Given the description of an element on the screen output the (x, y) to click on. 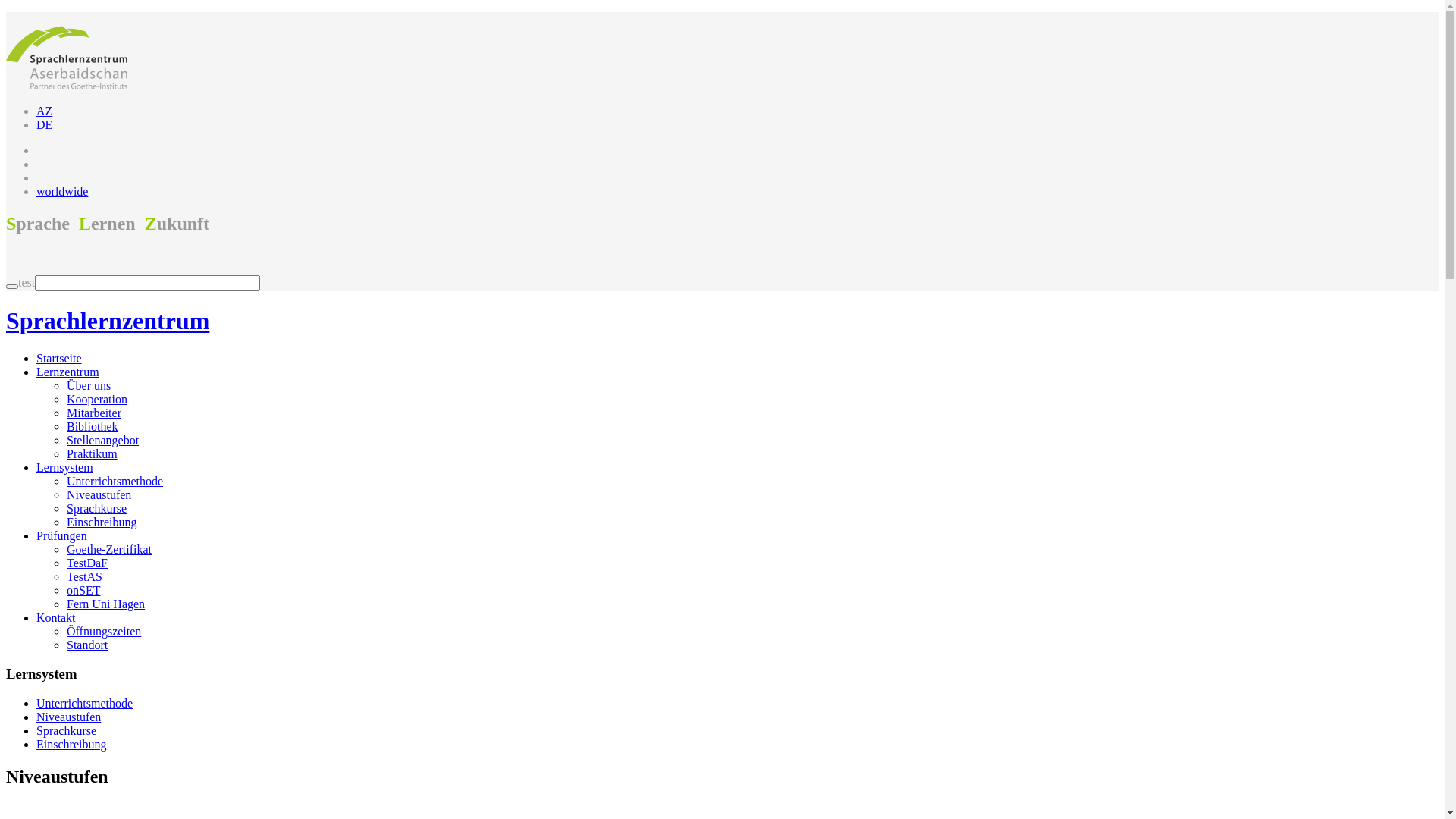
Kooperation Element type: text (96, 398)
Mitarbeiter Element type: text (93, 412)
Sprachkurse Element type: text (96, 508)
Sprachkurse Element type: text (66, 730)
Niveaustufen Element type: text (68, 716)
Startseite Element type: text (58, 357)
Start Element type: hover (12, 286)
Fern Uni Hagen Element type: text (105, 603)
Einschreibung Element type: text (101, 521)
Niveaustufen Element type: text (98, 494)
worldwide Element type: text (61, 191)
Sprachlernzentrum Element type: text (438, 321)
Einschreibung Element type: text (71, 743)
Unterrichtsmethode Element type: text (114, 480)
Goethe-Zertifikat Element type: text (108, 548)
AZ Element type: text (44, 110)
Bibliothek Element type: text (92, 426)
DE Element type: text (44, 124)
Standort Element type: text (86, 644)
Unterrichtsmethode Element type: text (84, 702)
Praktikum Element type: text (91, 453)
onSET Element type: text (83, 589)
Lernzentrum Element type: text (67, 371)
TestDaF Element type: text (86, 562)
Kontakt Element type: text (55, 617)
Stellenangebot Element type: text (102, 439)
Lernsystem Element type: text (64, 467)
TestAS Element type: text (84, 576)
